Given the description of an element on the screen output the (x, y) to click on. 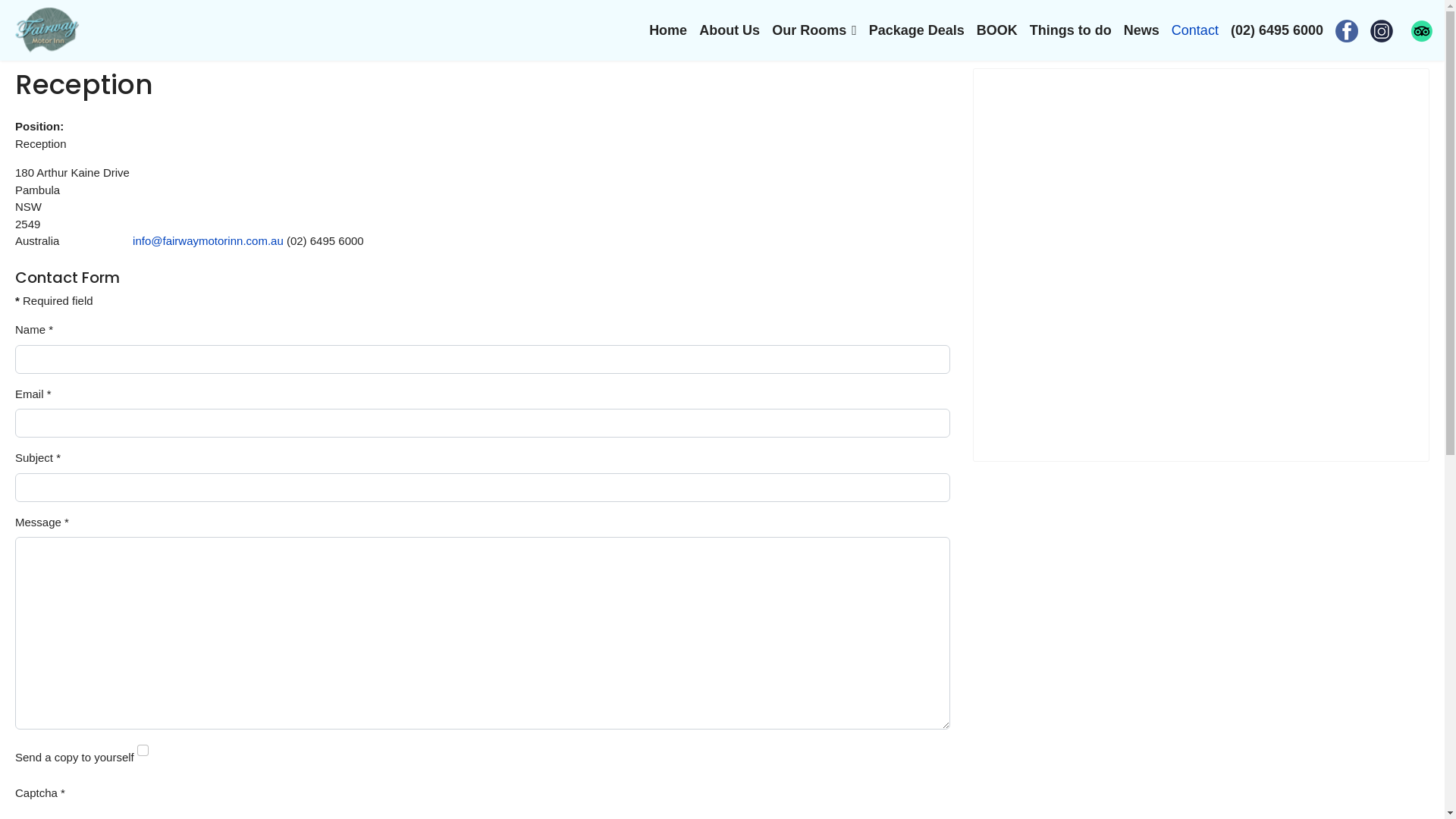
Package Deals Element type: text (916, 30)
About Us Element type: text (729, 30)
BOOK Element type: text (996, 30)
Things to do Element type: text (1070, 30)
info@fairwaymotorinn.com.au Element type: text (207, 240)
Home Element type: text (668, 30)
News Element type: text (1141, 30)
Contact Element type: text (1194, 30)
Our Rooms Element type: text (813, 30)
(02) 6495 6000 Element type: text (1276, 30)
